Given the description of an element on the screen output the (x, y) to click on. 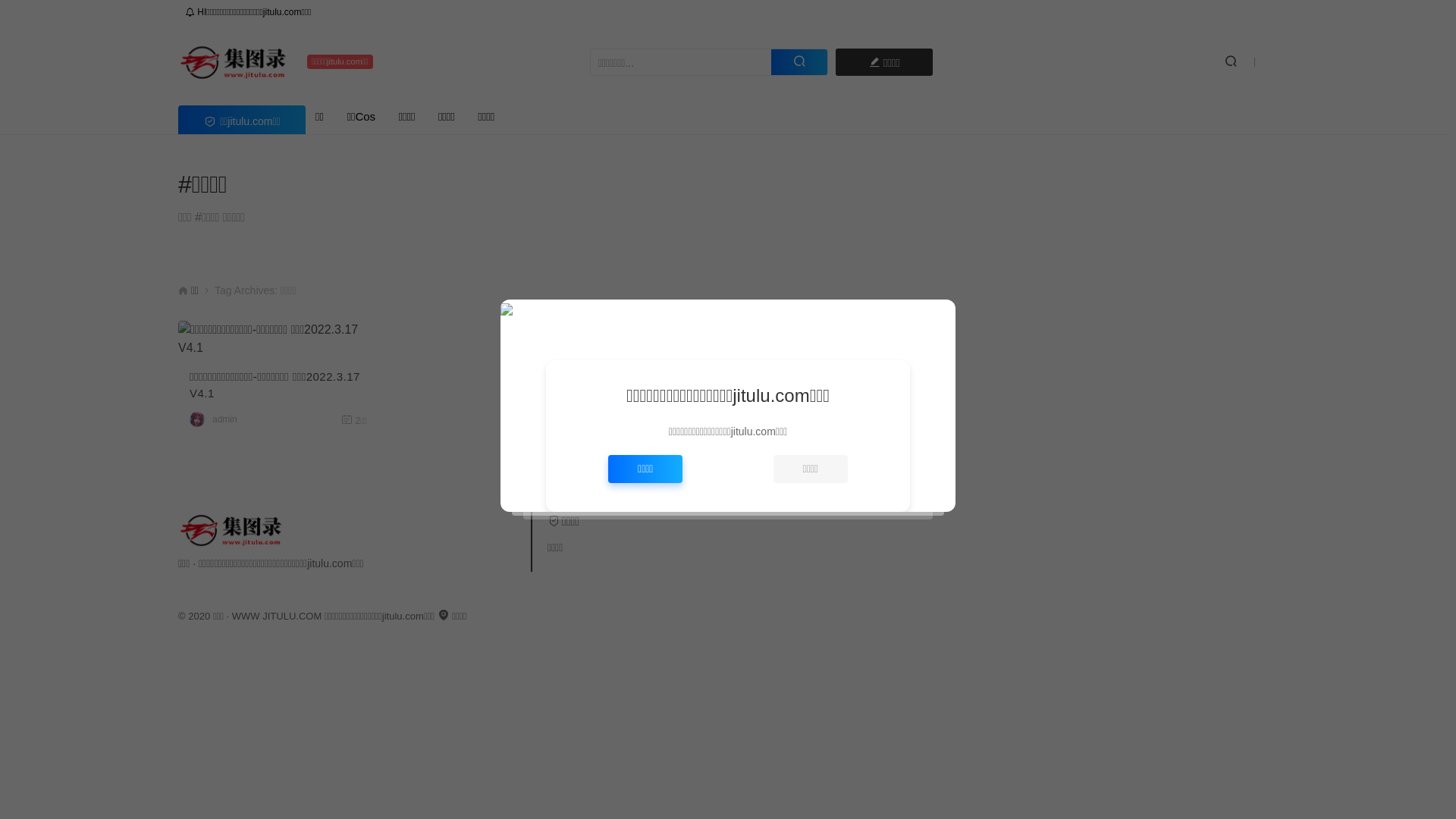
admin Element type: text (224, 419)
